Given the description of an element on the screen output the (x, y) to click on. 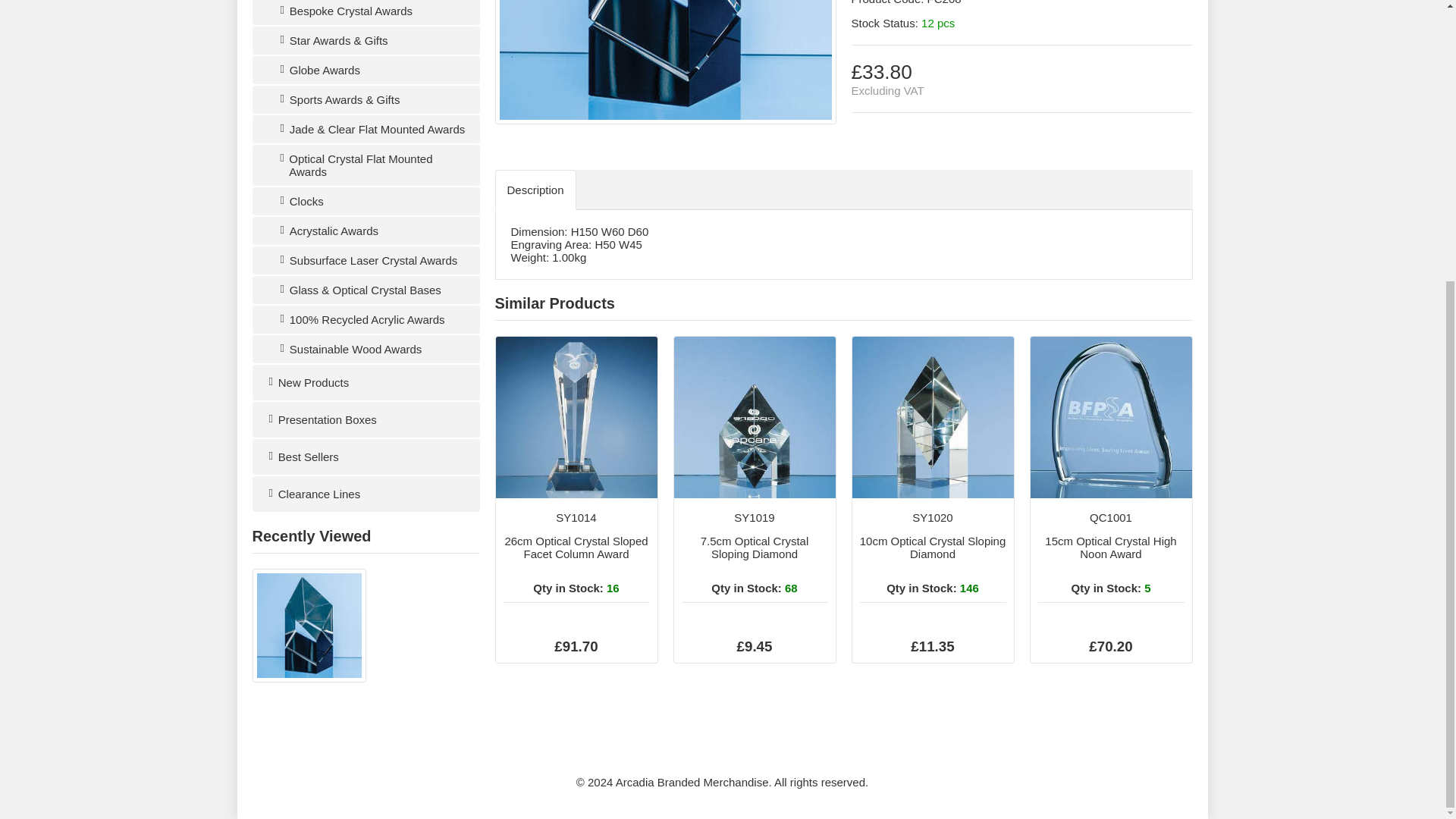
Sustainable Wood Awards (365, 348)
Optical Crystal Flat Mounted Awards (365, 164)
Bespoke Crystal Awards (365, 12)
New Products (365, 382)
Best Sellers (365, 456)
Subsurface Laser Crystal Awards (365, 260)
Presentation Boxes (365, 419)
Clearance Lines (365, 493)
Globe Awards (365, 70)
Clocks (365, 201)
Acrystalic Awards (365, 230)
